Given the description of an element on the screen output the (x, y) to click on. 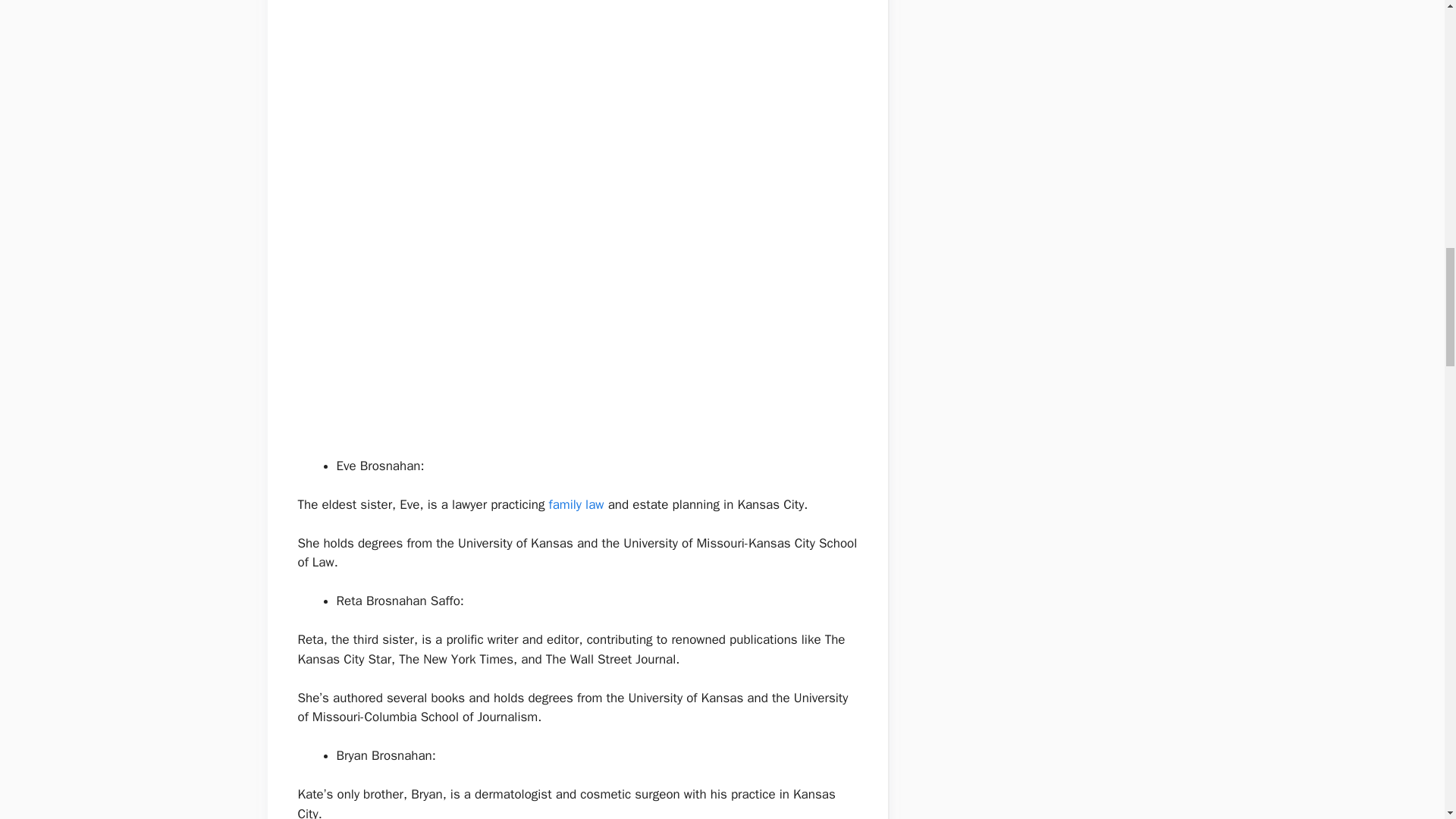
family law (576, 504)
